Given the description of an element on the screen output the (x, y) to click on. 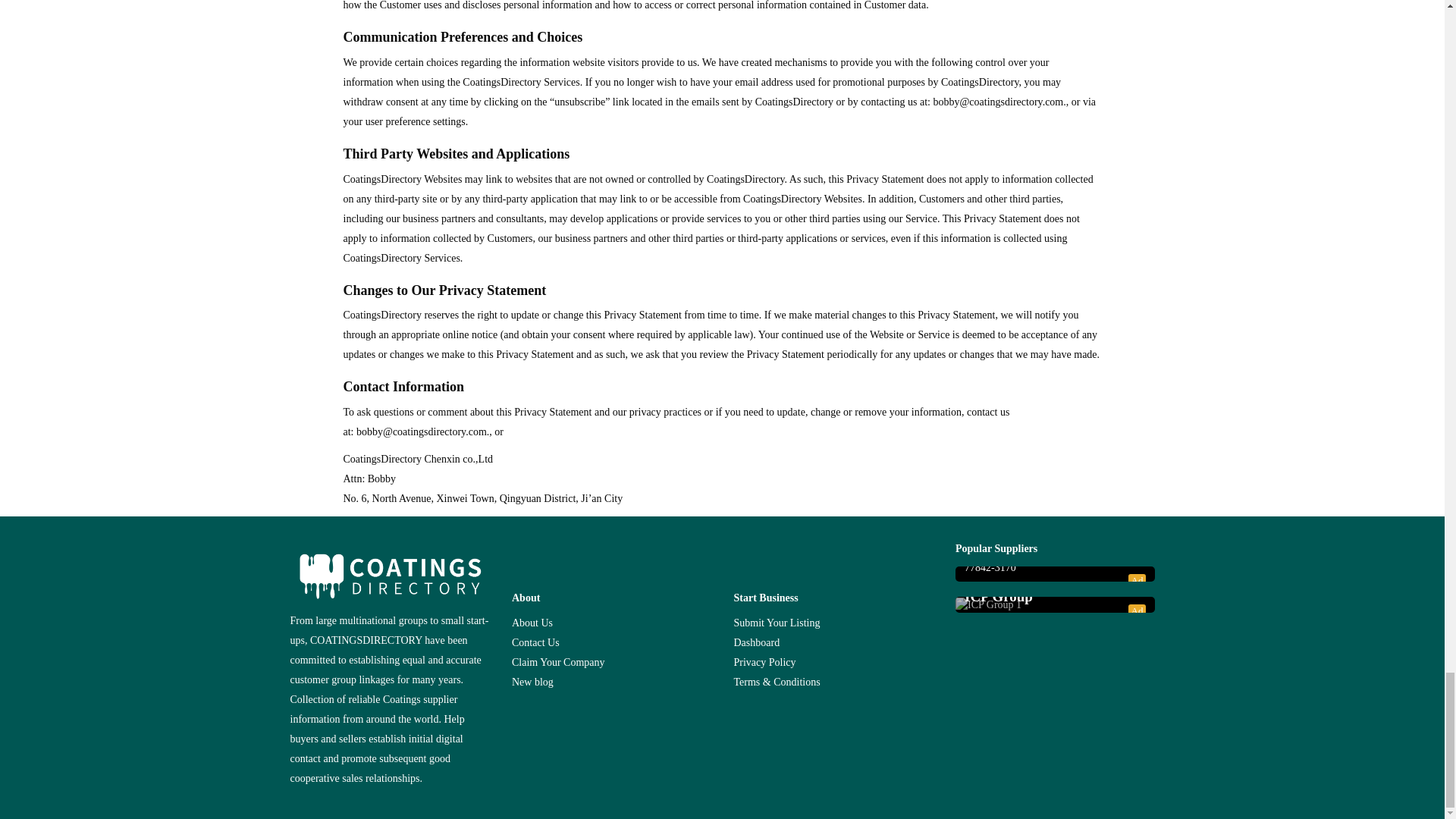
About Us (532, 622)
ICP Group (1054, 596)
New blog (532, 681)
Claim Your Company (558, 662)
Privacy Policy (764, 662)
Contact Us (535, 642)
Dashboard (756, 642)
Submit Your Listing (777, 622)
